Given the description of an element on the screen output the (x, y) to click on. 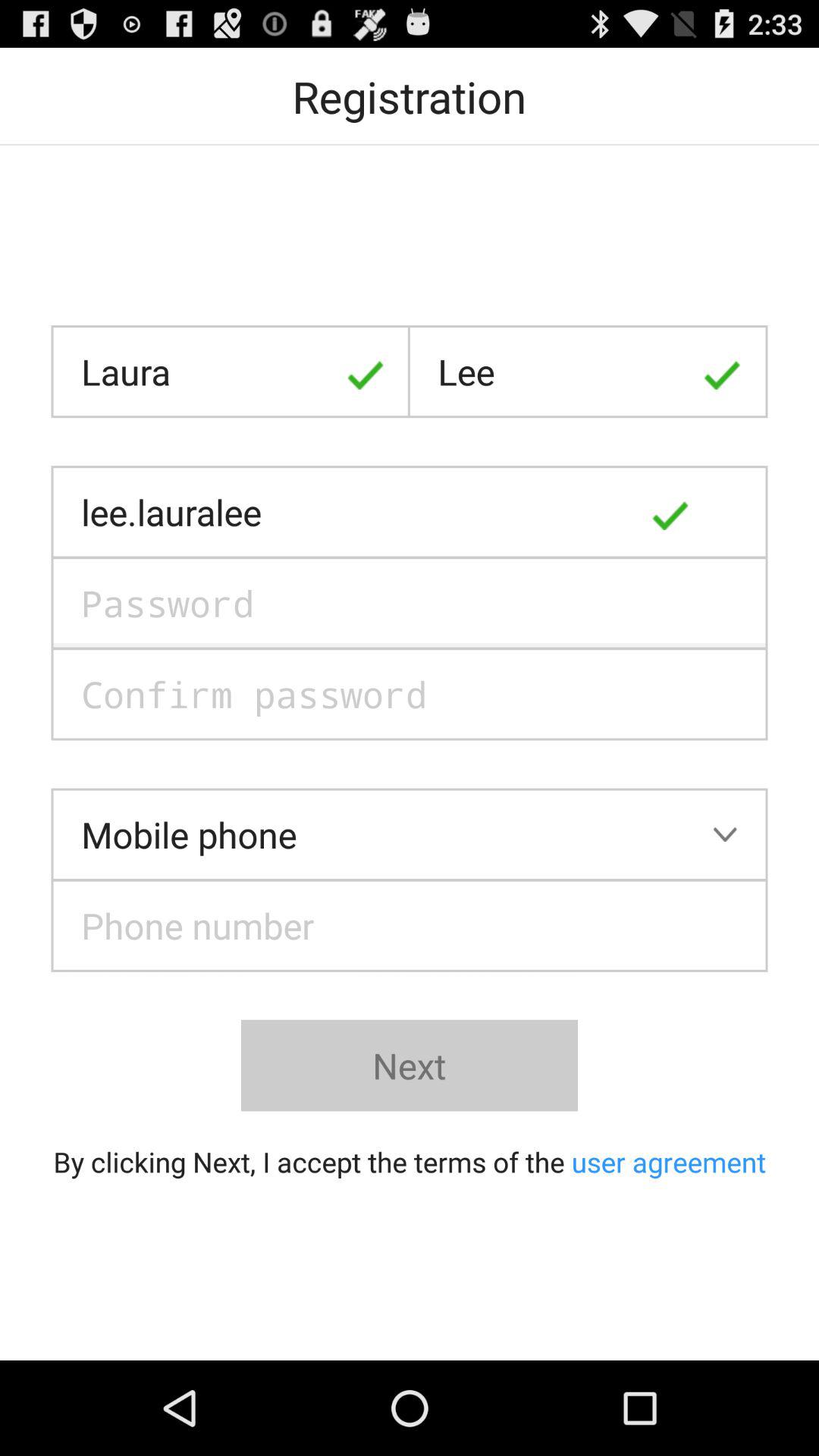
click the item on the right (724, 511)
